Given the description of an element on the screen output the (x, y) to click on. 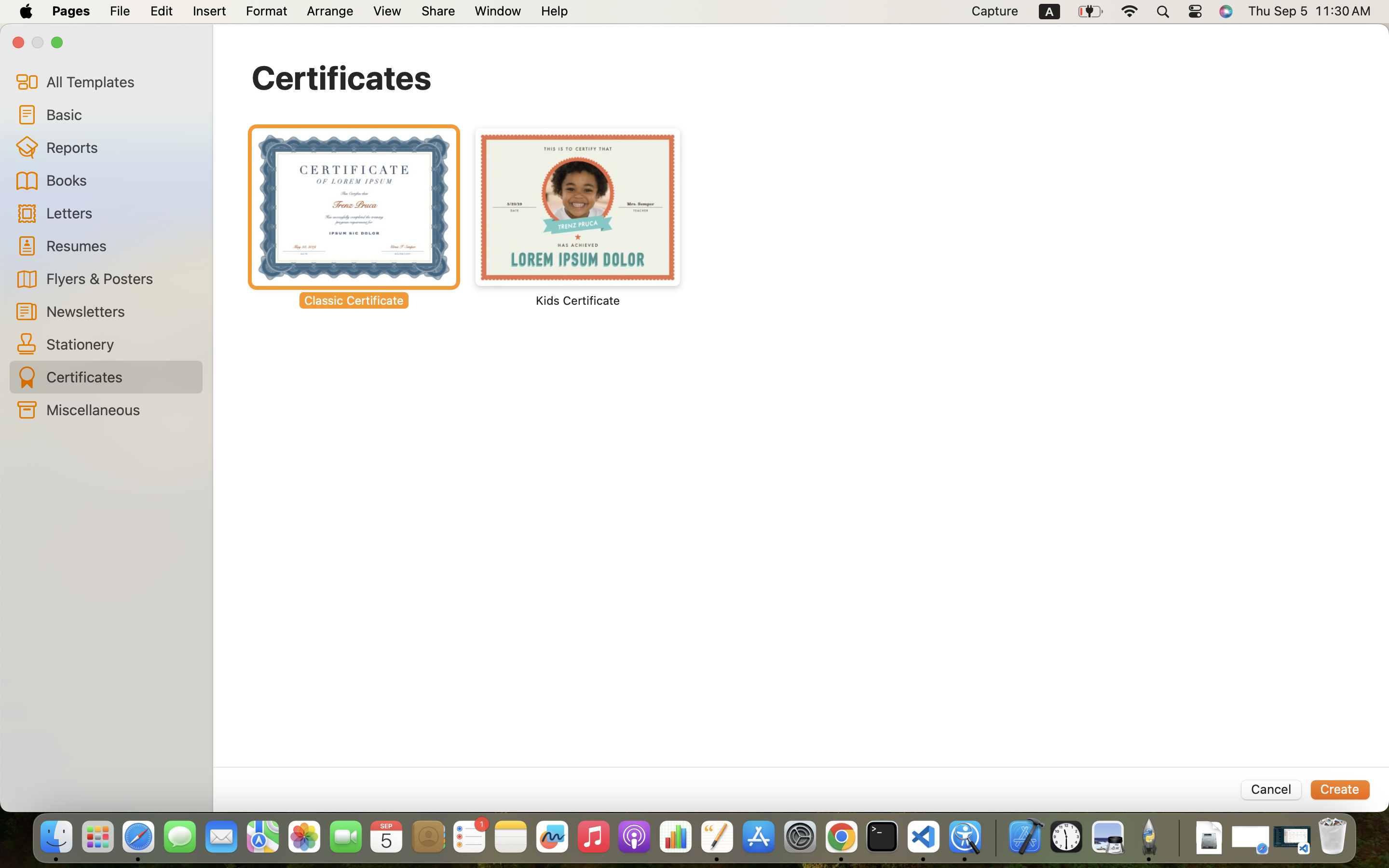
Miscellaneous Element type: AXStaticText (120, 409)
Certificates Element type: AXStaticText (341, 76)
Newsletters Element type: AXStaticText (120, 310)
Reports Element type: AXStaticText (120, 146)
